Given the description of an element on the screen output the (x, y) to click on. 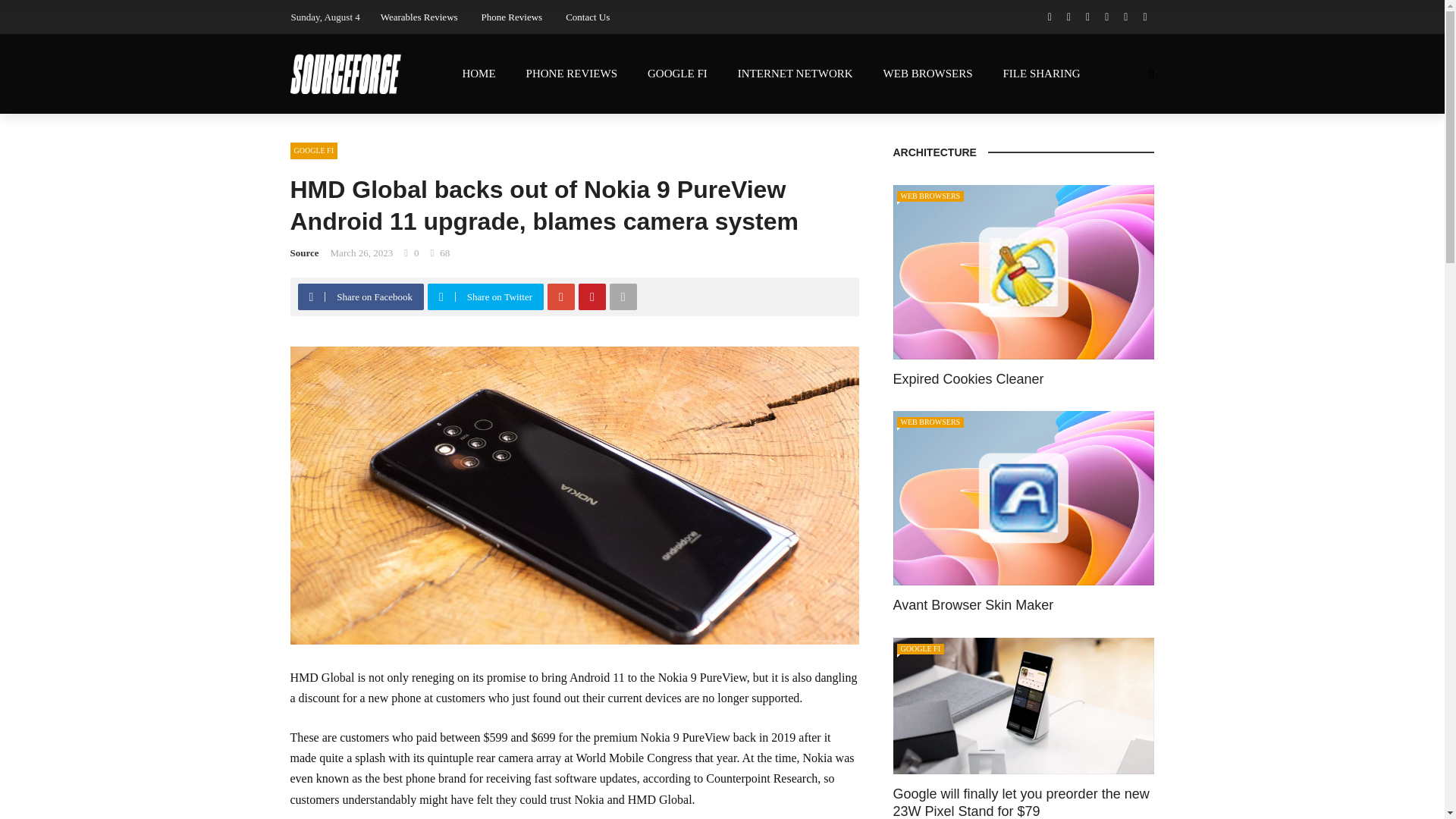
Phone Reviews (512, 16)
PHONE REVIEWS (571, 73)
GOOGLE FI (676, 73)
INTERNET NETWORK (794, 73)
Wearables Reviews (419, 16)
Contact Us (588, 16)
WEB BROWSERS (927, 73)
FILE SHARING (1040, 73)
